Given the description of an element on the screen output the (x, y) to click on. 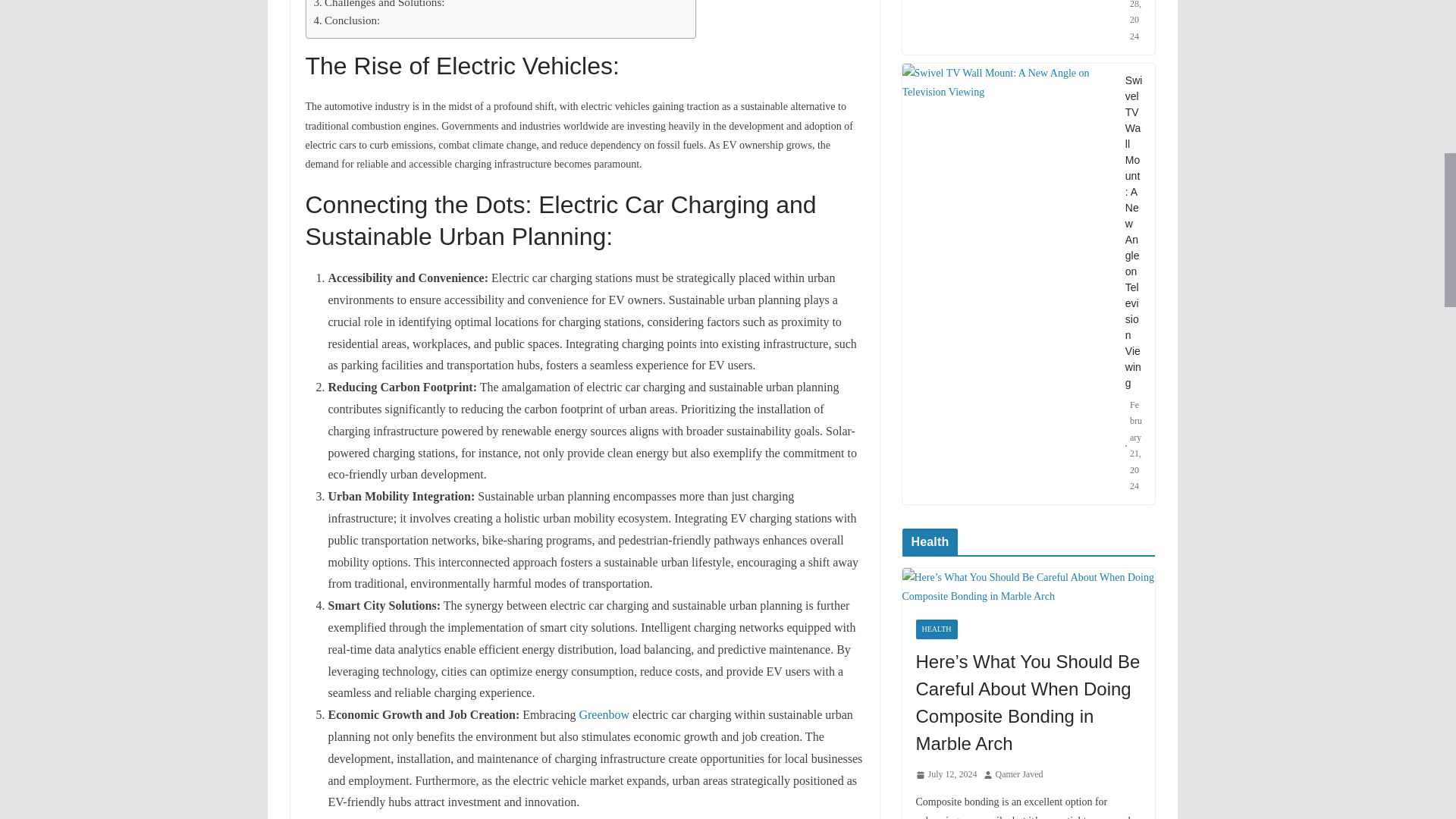
Challenges and Solutions: (379, 5)
Greenbow (603, 714)
Challenges and Solutions: (379, 5)
Conclusion: (347, 20)
Conclusion: (347, 20)
